Given the description of an element on the screen output the (x, y) to click on. 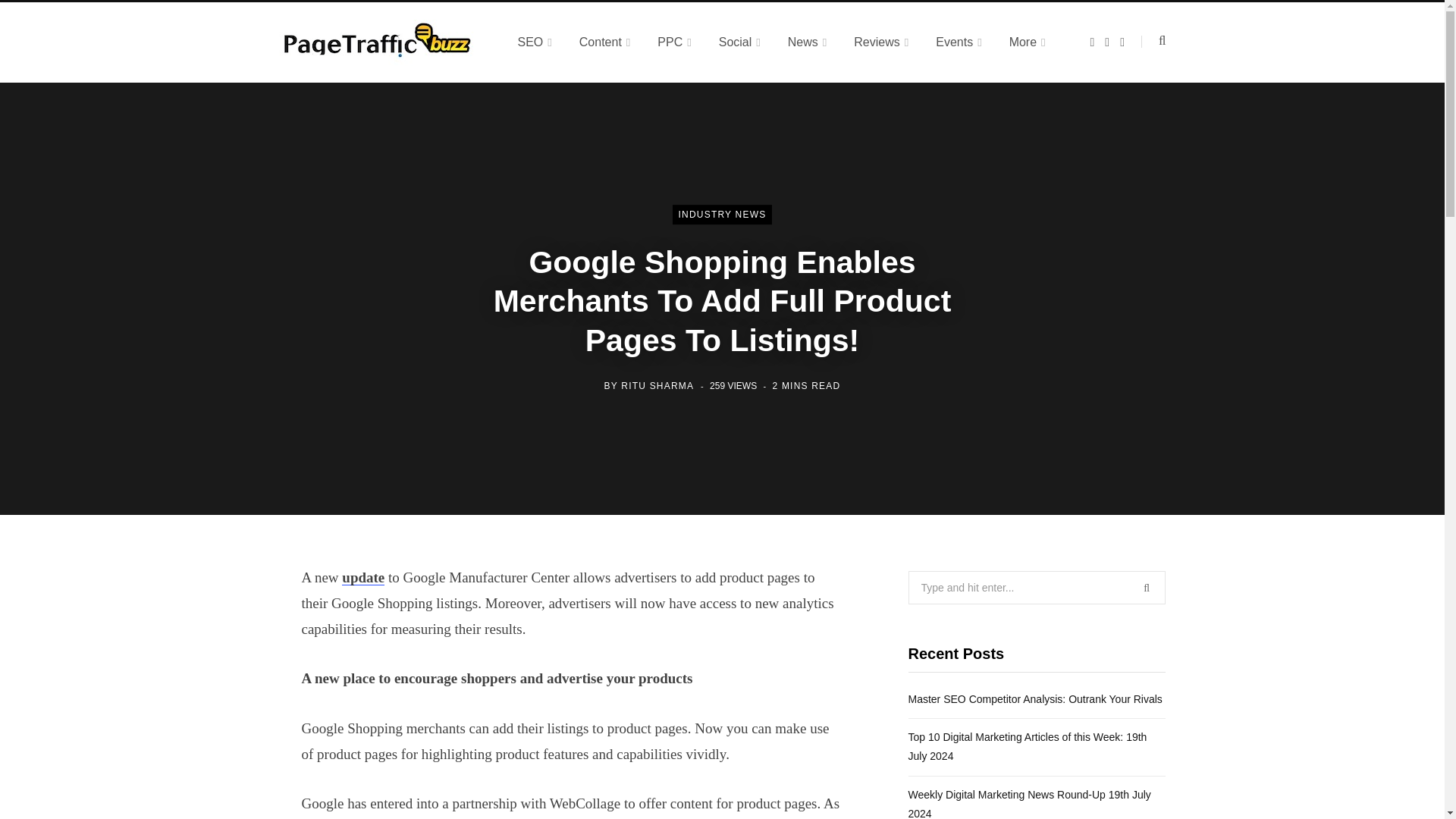
SEO (533, 41)
